Given the description of an element on the screen output the (x, y) to click on. 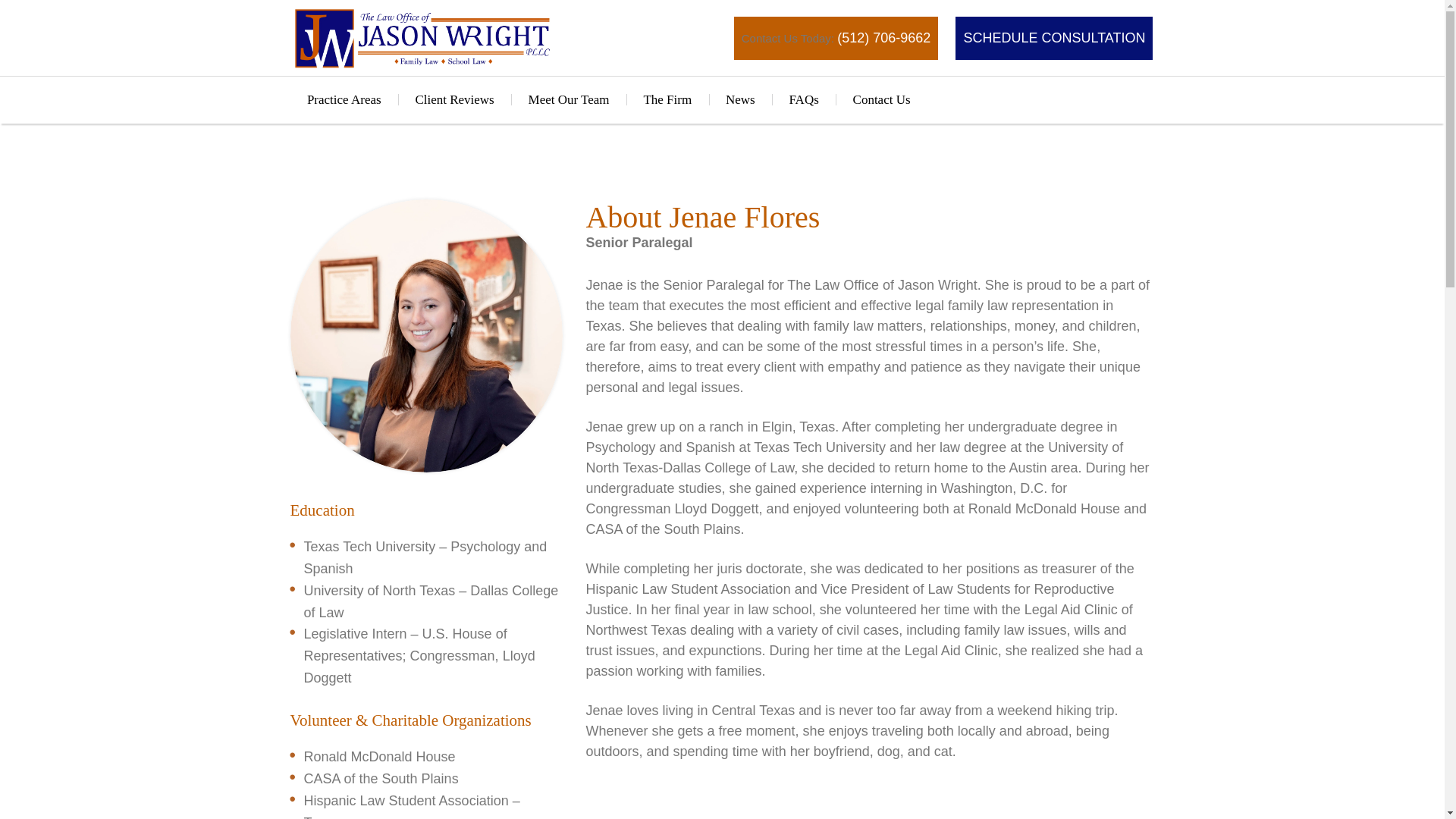
Practice Areas (343, 99)
SCHEDULE CONSULTATION (1053, 37)
Janae Flores (425, 335)
Meet Our Team (568, 99)
The Firm (667, 99)
Client Reviews (454, 99)
Contact Us (881, 99)
News (741, 99)
FAQs (803, 99)
